Given the description of an element on the screen output the (x, y) to click on. 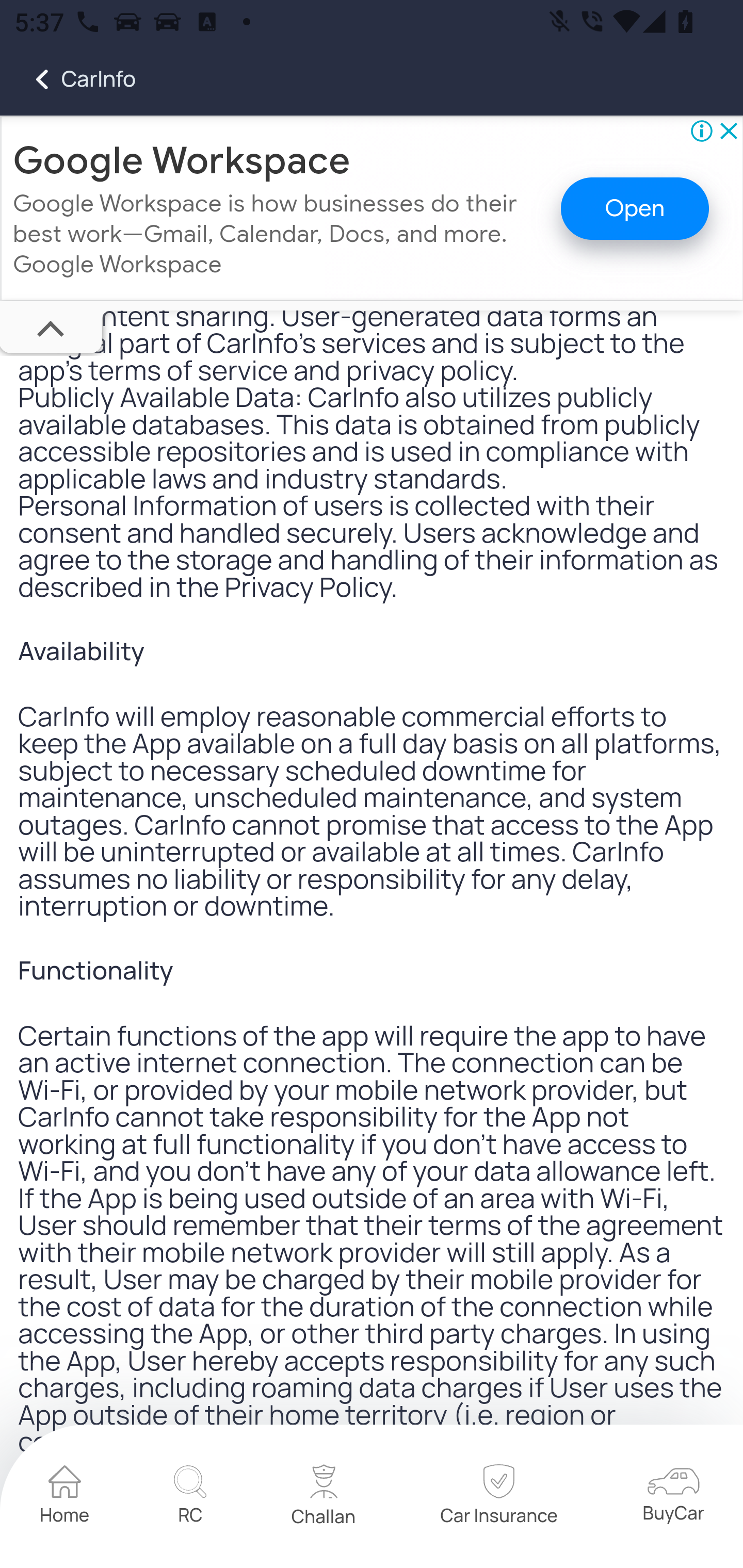
CarInfo (67, 79)
Google Workspace (182, 161)
Open (634, 209)
home Challan home Challan (323, 1497)
home Home home Home (64, 1498)
home RC home RC (190, 1498)
home Car Insurance home Car Insurance (497, 1498)
home BuyCar home BuyCar (672, 1497)
